Given the description of an element on the screen output the (x, y) to click on. 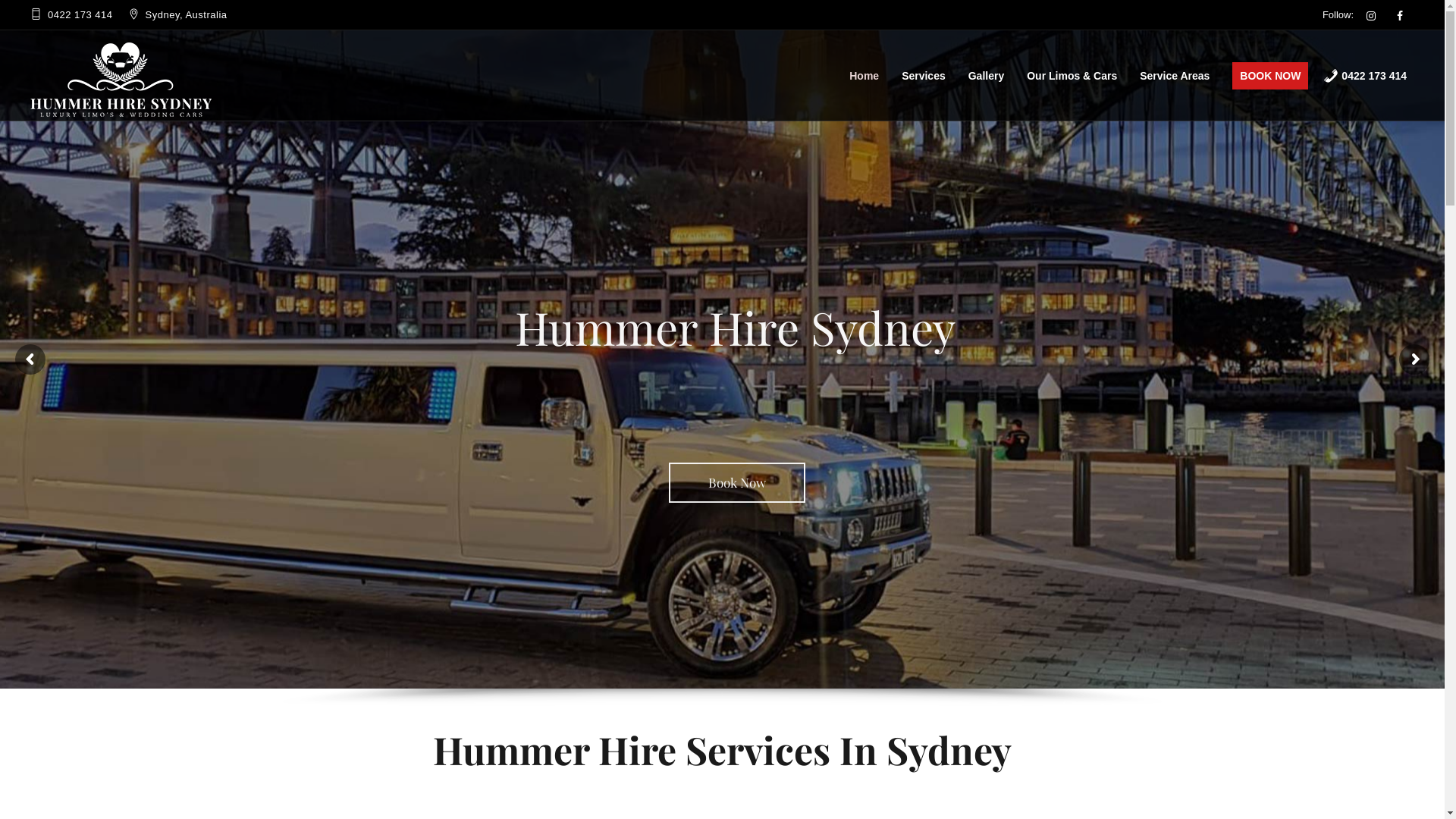
facebook Element type: hover (1399, 15)
Service Areas Element type: text (1178, 60)
Hummer Hire Sydney - Insagram Element type: hover (1370, 15)
Services Element type: text (927, 60)
Home Element type: hover (121, 75)
Our Limos & Cars Element type: text (1075, 60)
Home Element type: text (867, 60)
Gallery Element type: text (989, 60)
BOOK NOW Element type: text (1270, 60)
0422 173 414 Element type: text (1368, 60)
